Given the description of an element on the screen output the (x, y) to click on. 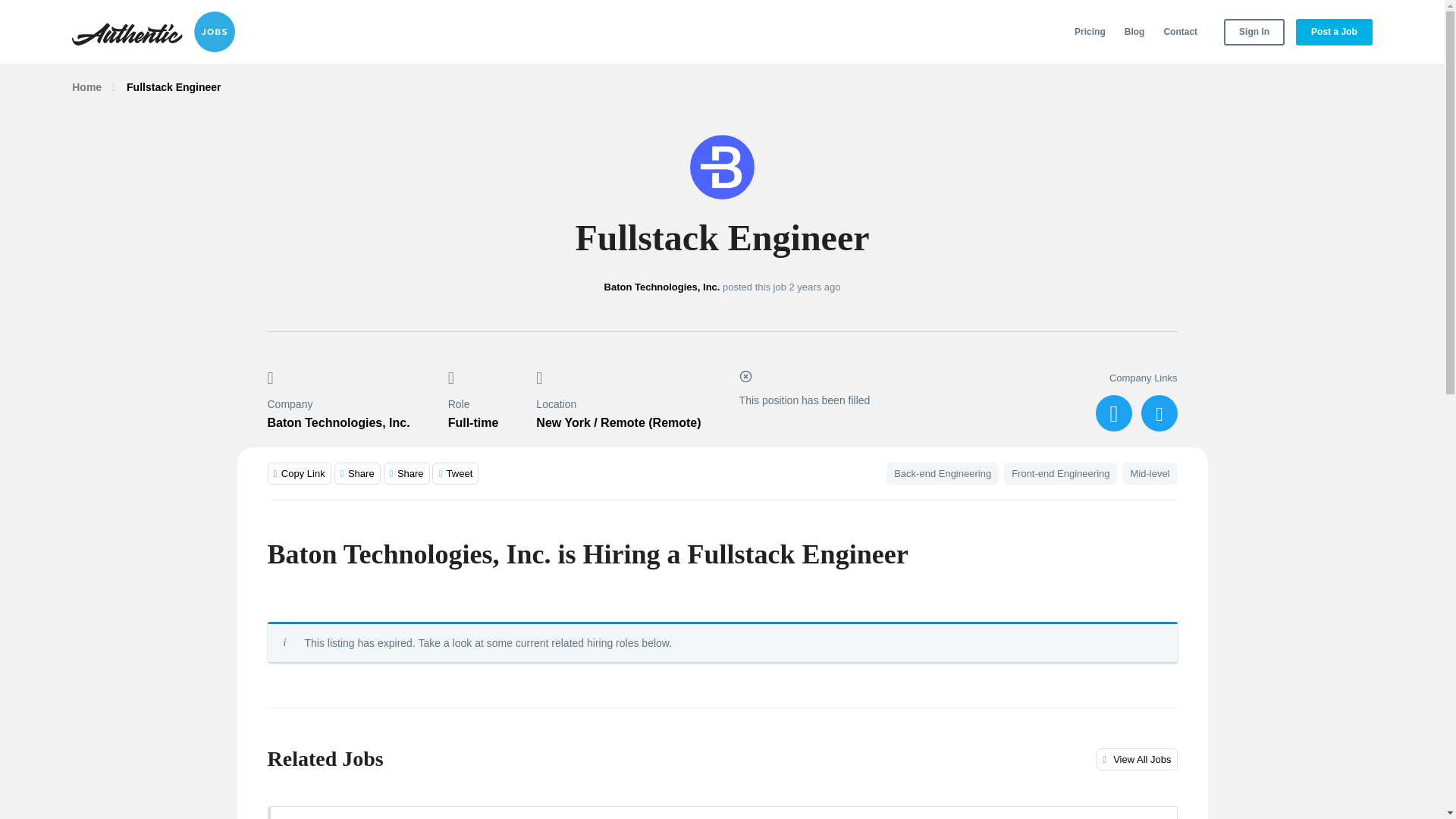
Blog (1134, 31)
Post a Job (1334, 31)
Pricing (1089, 31)
Sign In (1254, 31)
Tweet (455, 473)
Copy Link (298, 473)
Authentic Jobs (152, 31)
Contact (1179, 31)
Share (357, 473)
 View All Jobs (1136, 759)
